Given the description of an element on the screen output the (x, y) to click on. 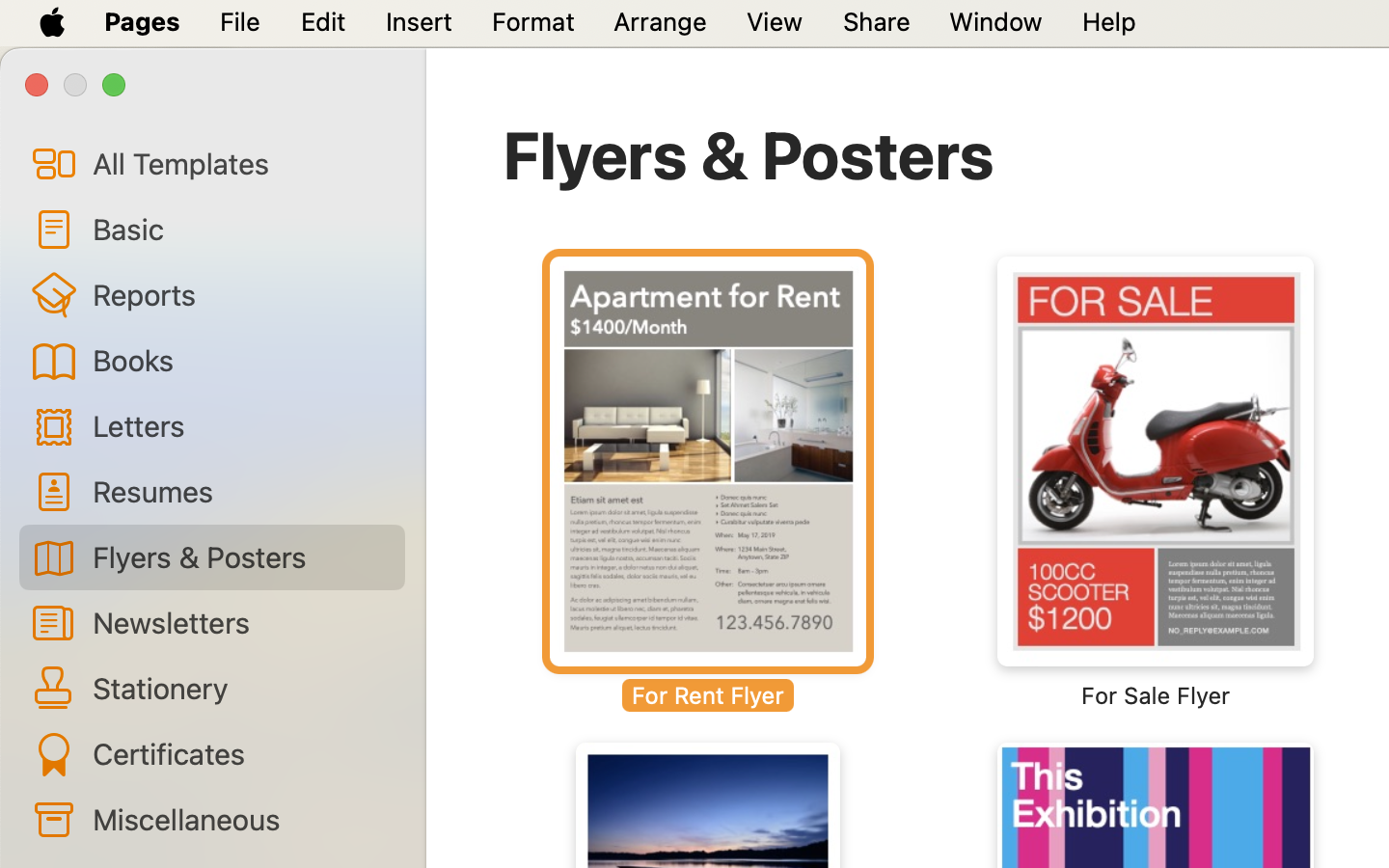
Resumes Element type: AXStaticText (240, 490)
‎⁨For Rent Flyer⁩ Element type: AXButton (707, 483)
Reports Element type: AXStaticText (240, 293)
Basic Element type: AXStaticText (240, 228)
Certificates Element type: AXStaticText (240, 752)
